Given the description of an element on the screen output the (x, y) to click on. 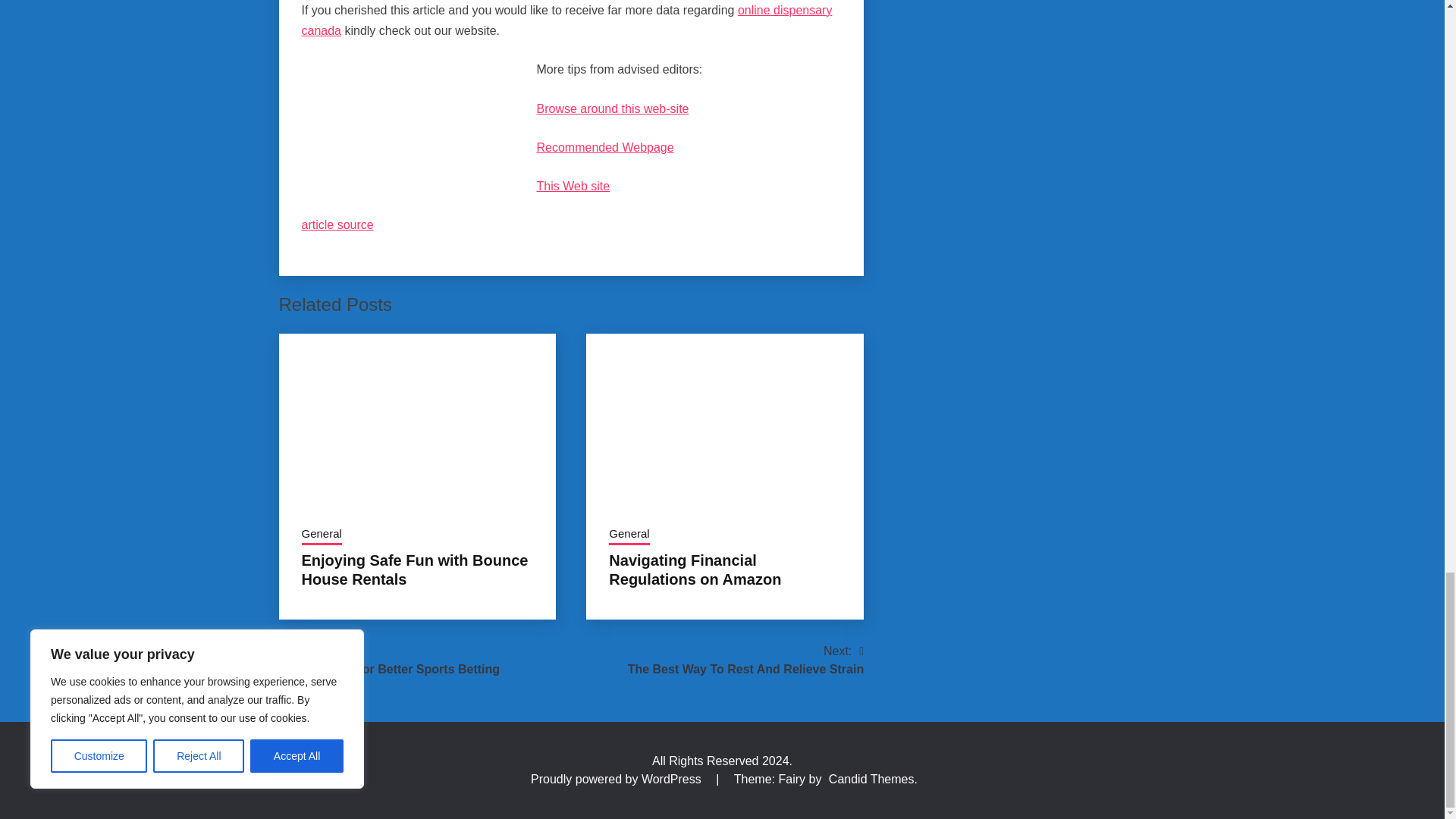
article source (337, 224)
Browse around this web-site (612, 108)
online dispensary canada (566, 20)
Recommended Webpage (605, 146)
This Web site (573, 185)
